Given the description of an element on the screen output the (x, y) to click on. 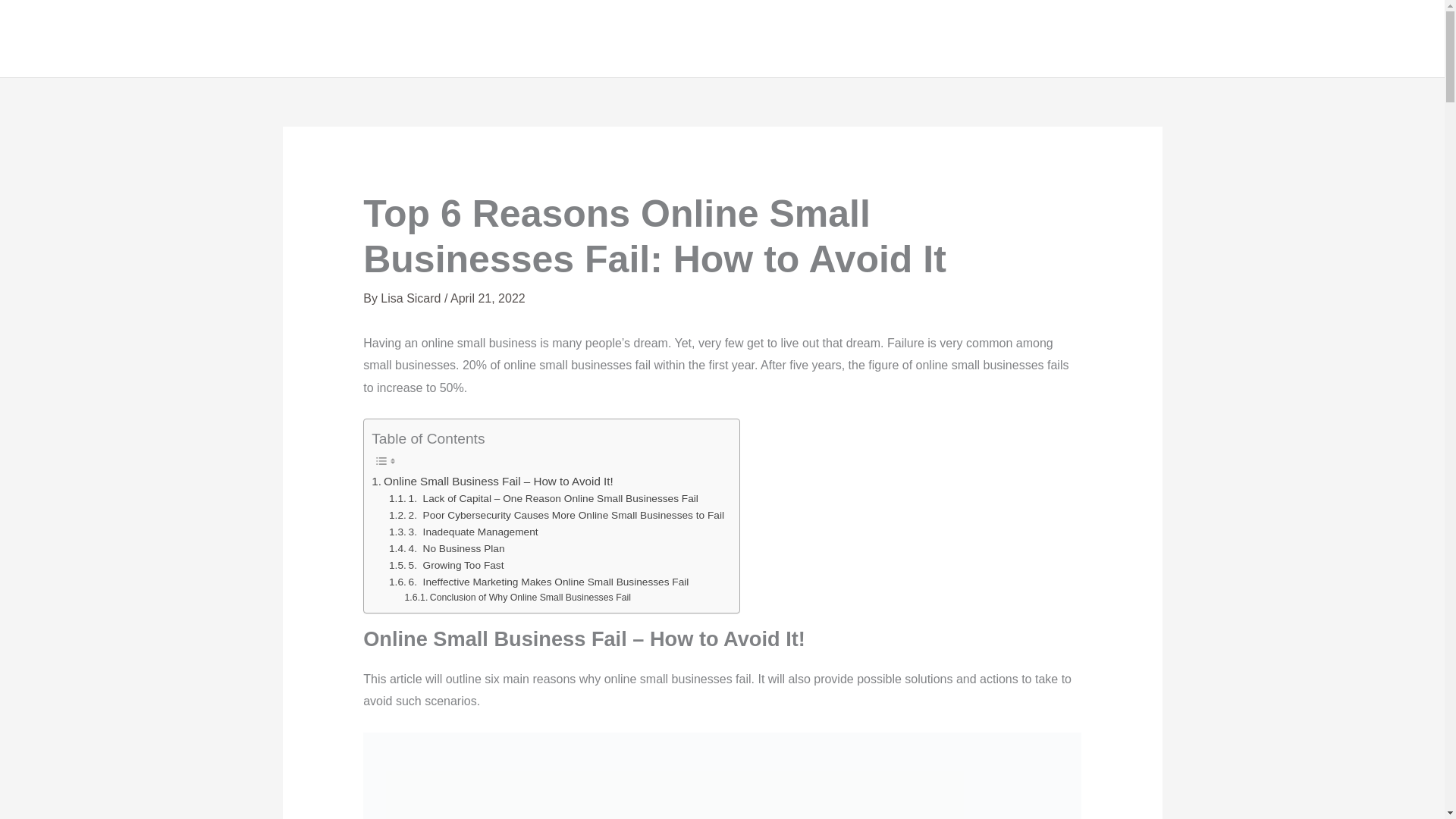
SEO (1272, 38)
4.  No Business Plan (445, 548)
About (1044, 38)
Home (975, 38)
Blog (1216, 38)
View all posts by Lisa Sicard (412, 297)
Social Media (1353, 38)
Social Media (1353, 38)
Lisa Sicard (412, 297)
SM Services (1134, 38)
5.  Growing Too Fast (445, 565)
Conclusion of Why Online Small Businesses Fail (517, 598)
To Inspire You To Thrive Online (975, 38)
6.  Ineffective Marketing Makes Online Small Businesses Fail (538, 582)
